Given the description of an element on the screen output the (x, y) to click on. 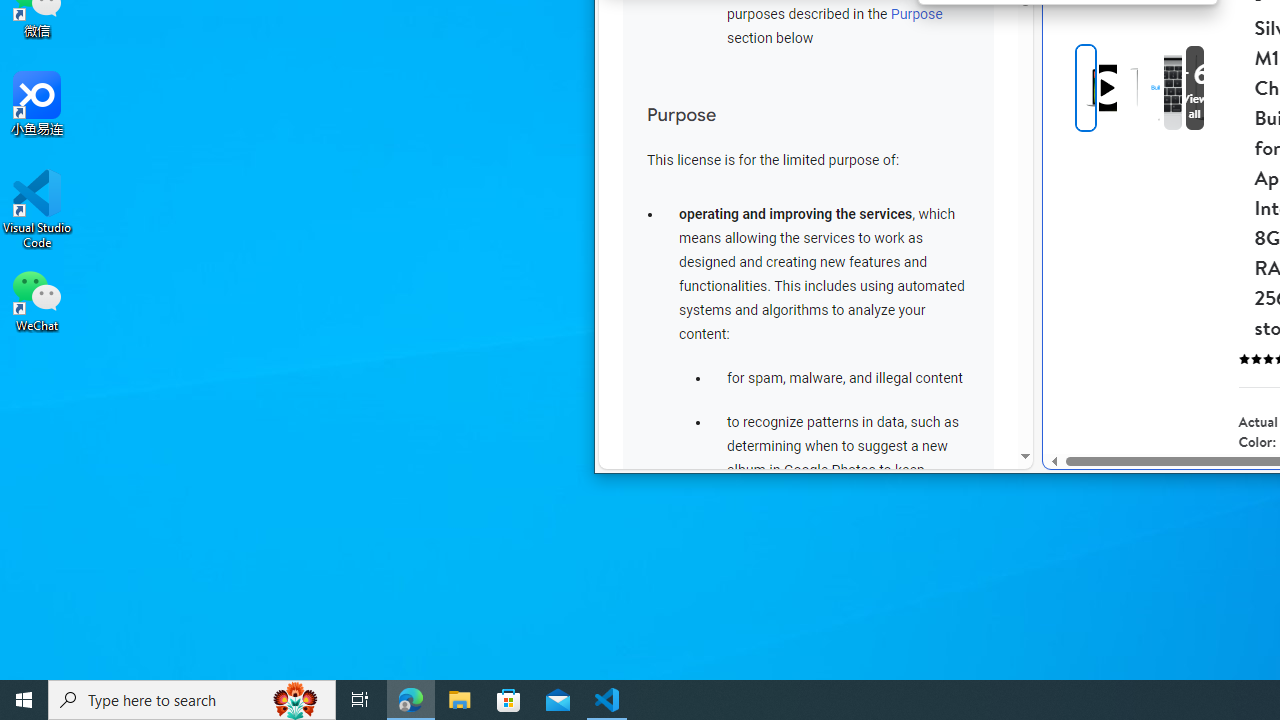
Start (24, 699)
Search highlights icon opens search home window (295, 699)
Task View (359, 699)
Type here to search (191, 699)
Microsoft Store (509, 699)
